Given the description of an element on the screen output the (x, y) to click on. 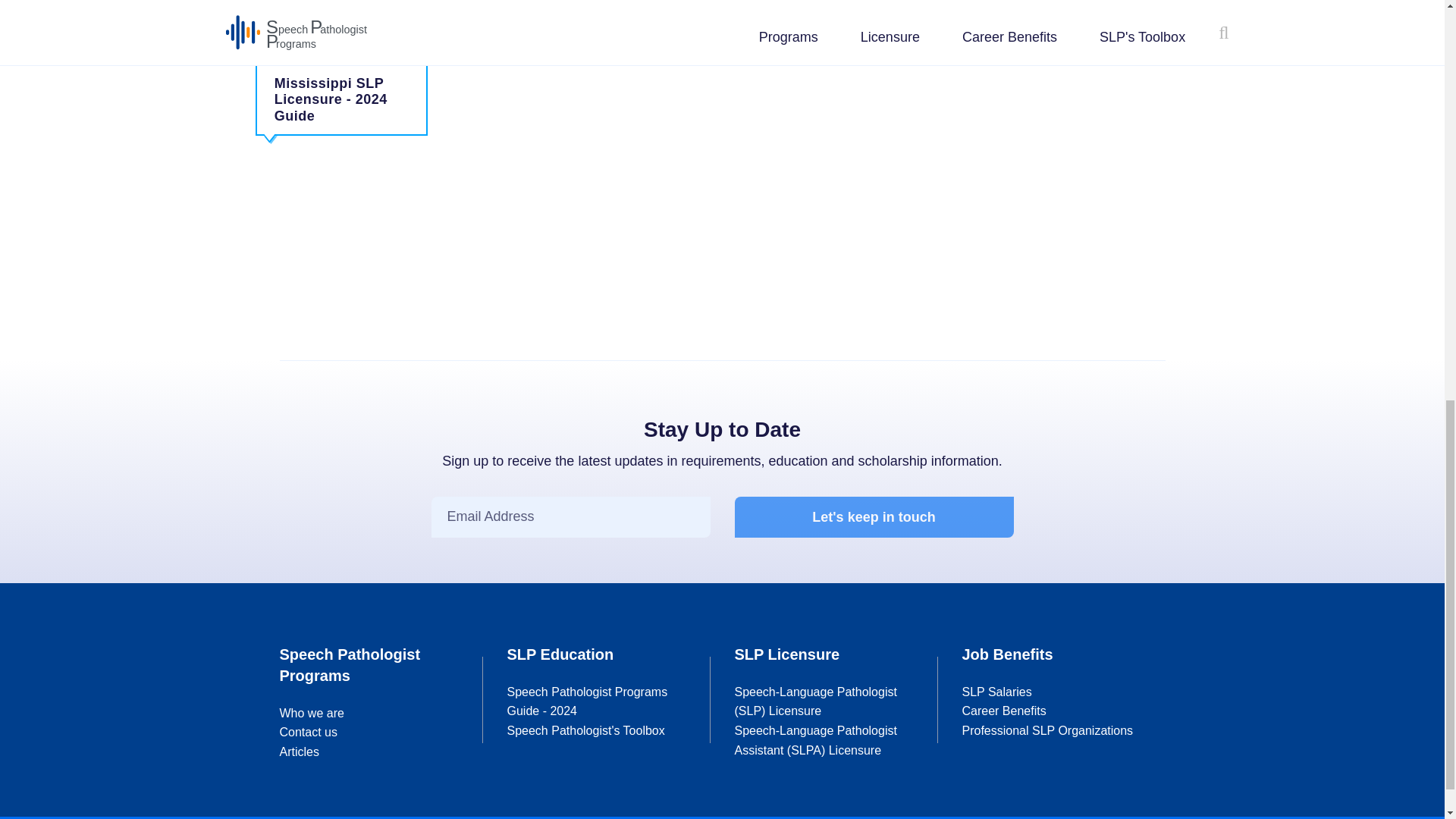
Contact us (307, 731)
Let's keep in touch (873, 517)
Articles (298, 751)
Let's keep in touch (873, 517)
Who we are (311, 712)
